Given the description of an element on the screen output the (x, y) to click on. 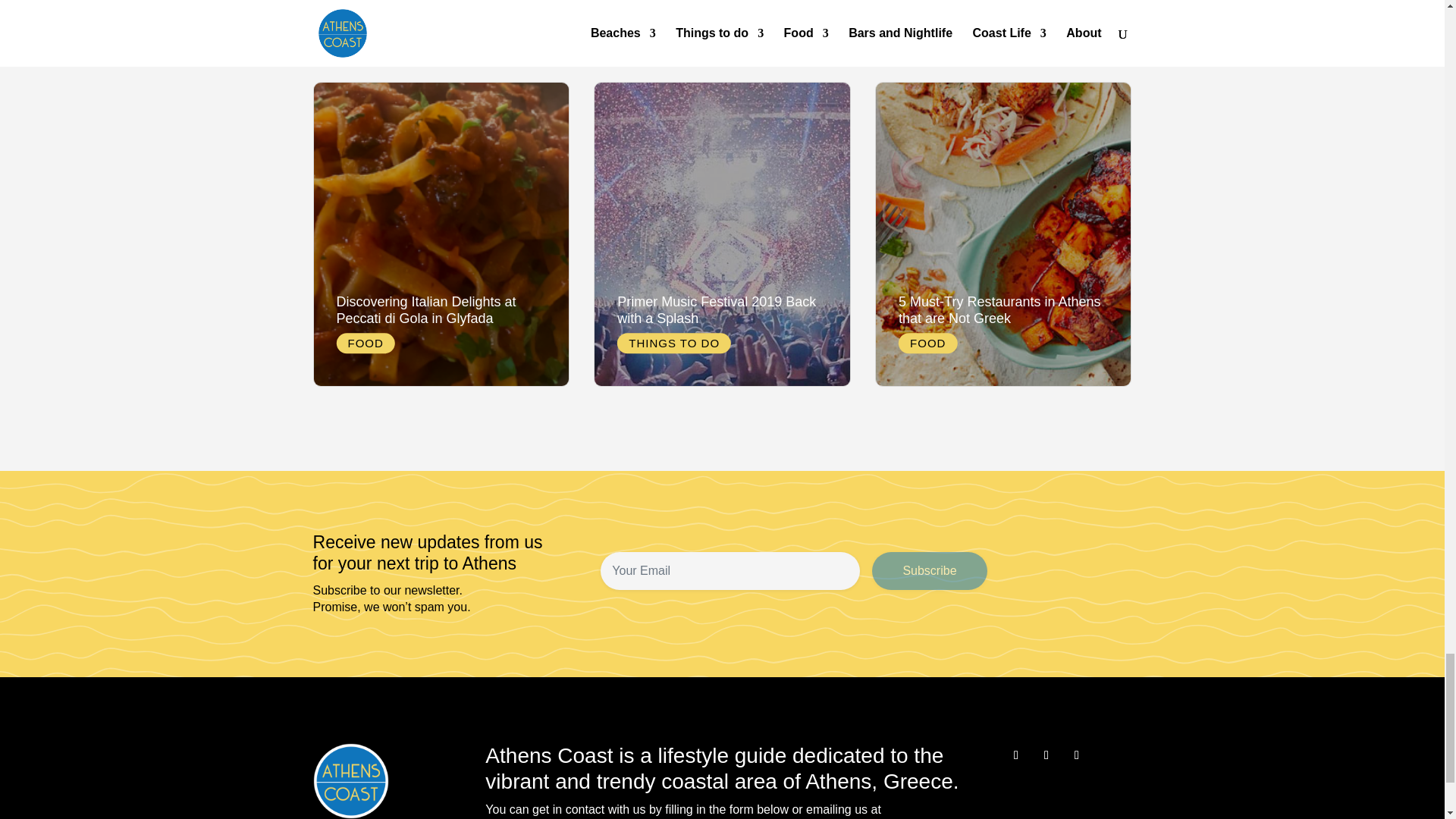
Follow on X (1045, 754)
Subscribe (929, 570)
athens-coast-beach-bw (350, 780)
Follow on Facebook (1015, 754)
Follow on Instagram (1076, 754)
